Given the description of an element on the screen output the (x, y) to click on. 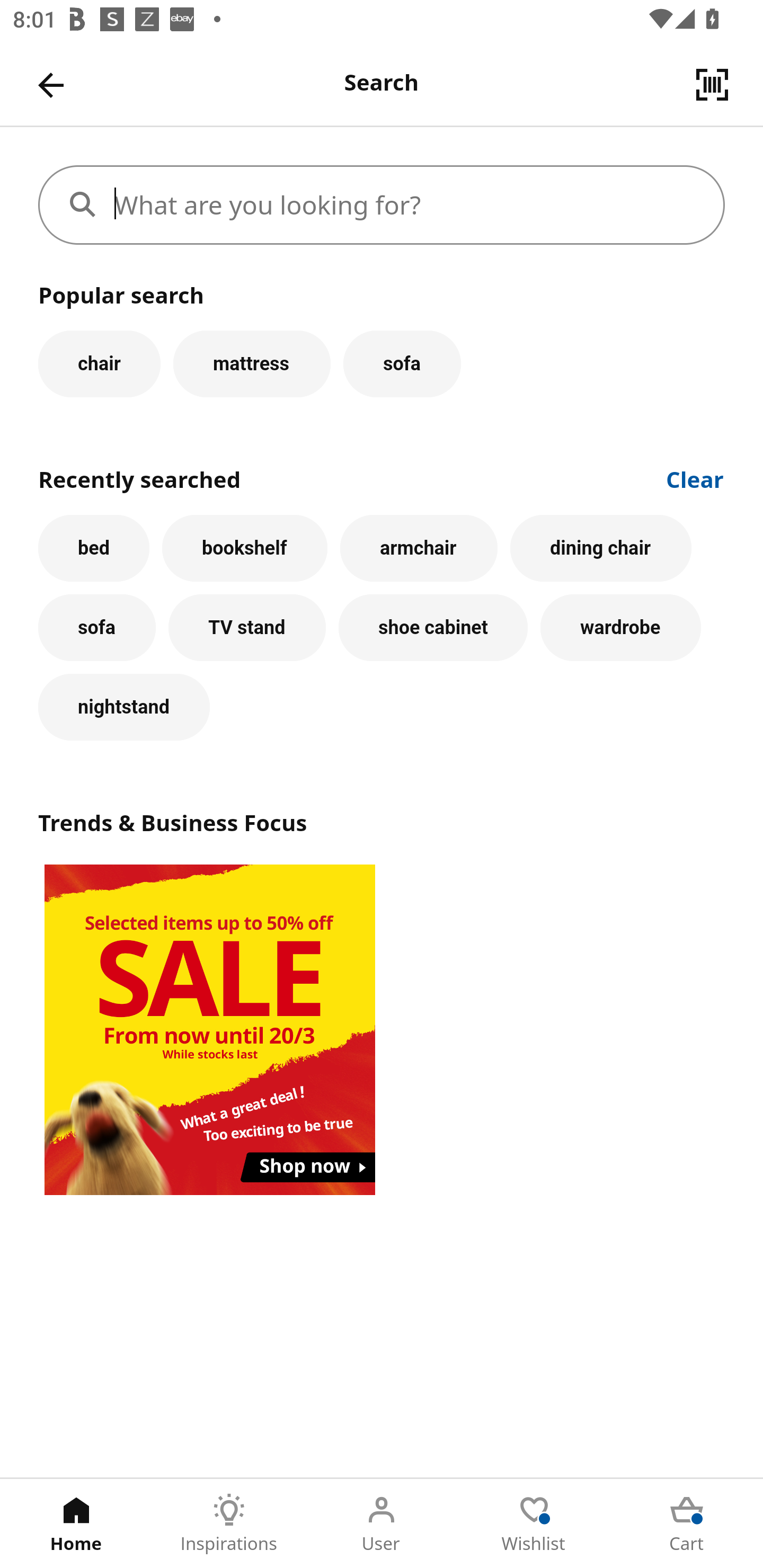
chair (99, 363)
mattress (251, 363)
sofa (401, 363)
Clear (695, 477)
bed (93, 547)
bookshelf (244, 547)
armchair (418, 547)
dining chair (600, 547)
sofa (96, 627)
TV stand (246, 627)
shoe cabinet (432, 627)
wardrobe (620, 627)
nightstand (123, 707)
Home
Tab 1 of 5 (76, 1522)
Inspirations
Tab 2 of 5 (228, 1522)
User
Tab 3 of 5 (381, 1522)
Wishlist
Tab 4 of 5 (533, 1522)
Cart
Tab 5 of 5 (686, 1522)
